Given the description of an element on the screen output the (x, y) to click on. 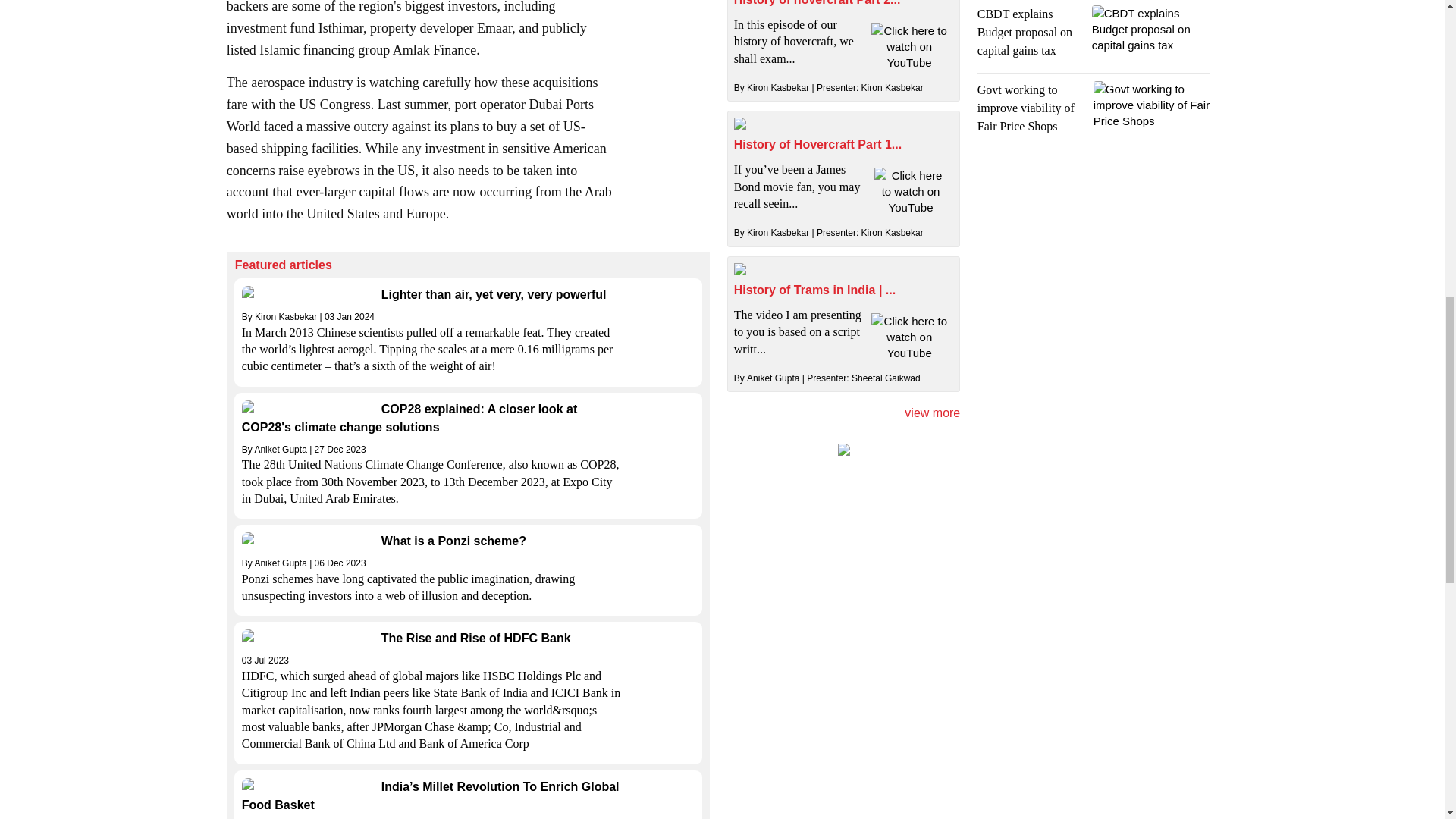
Click here to watch on YouTube (911, 191)
Click here to watch on YouTube (908, 46)
Click here to watch on YouTube (908, 336)
